Given the description of an element on the screen output the (x, y) to click on. 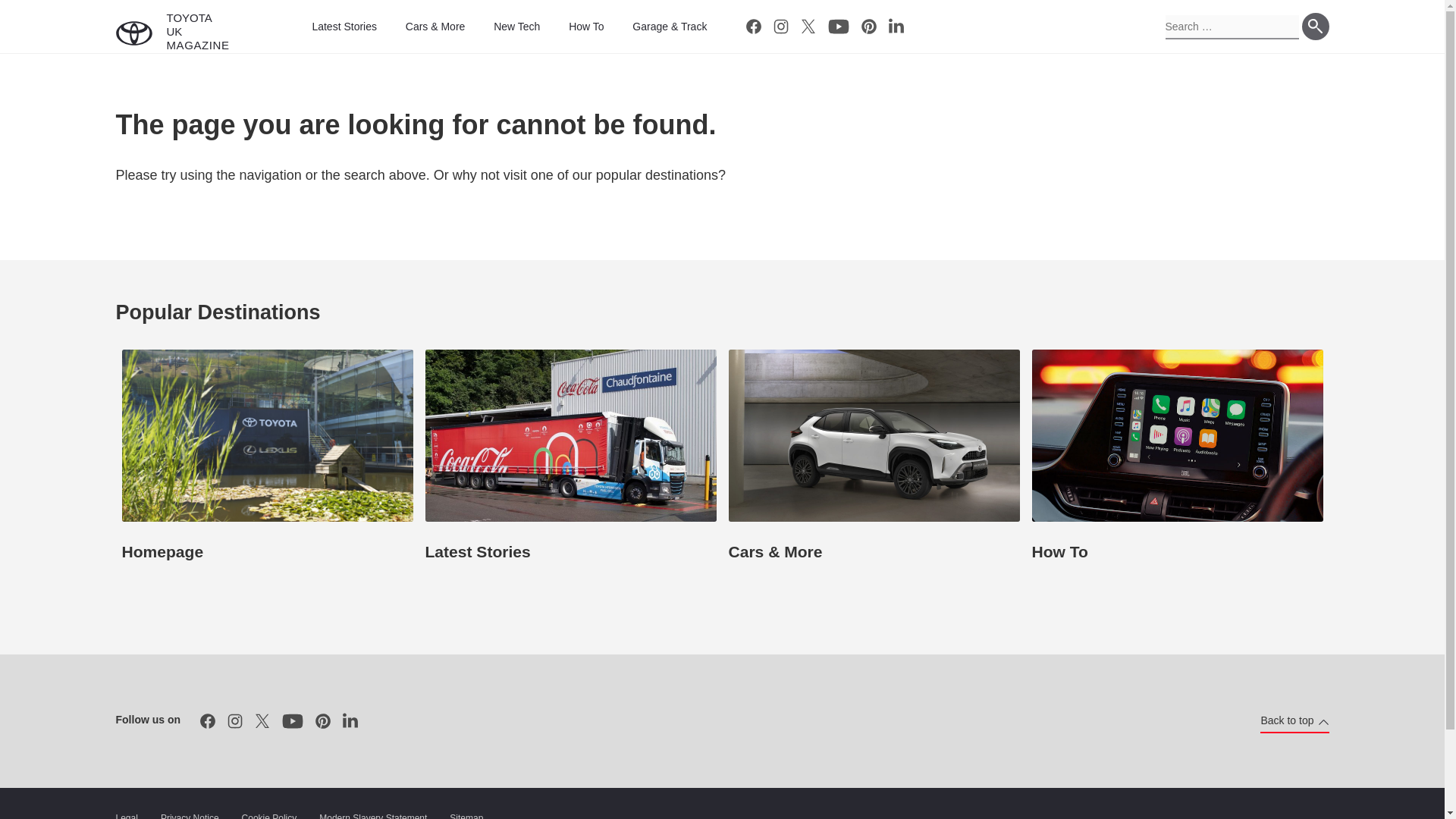
Search (1314, 26)
Instagram (234, 720)
Modern Slavery Statement (372, 814)
Facebook (753, 26)
Instagram (780, 26)
Search (1314, 26)
Youtube (292, 720)
Pinterest (322, 720)
Twitter (262, 720)
Pinterest (869, 26)
